Given the description of an element on the screen output the (x, y) to click on. 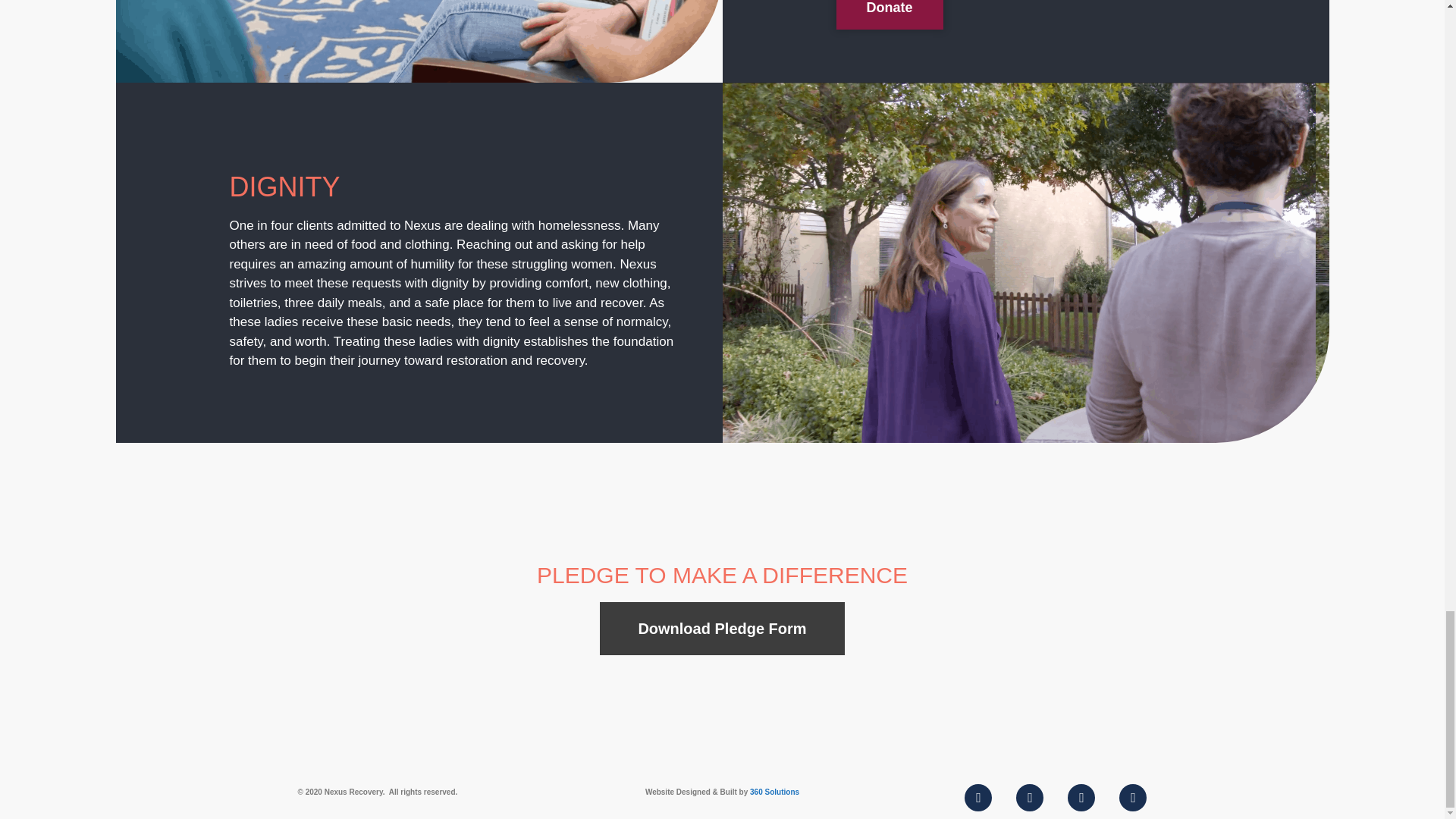
360 Solutions (774, 791)
Donate (888, 14)
Download Pledge Form (721, 628)
